Given the description of an element on the screen output the (x, y) to click on. 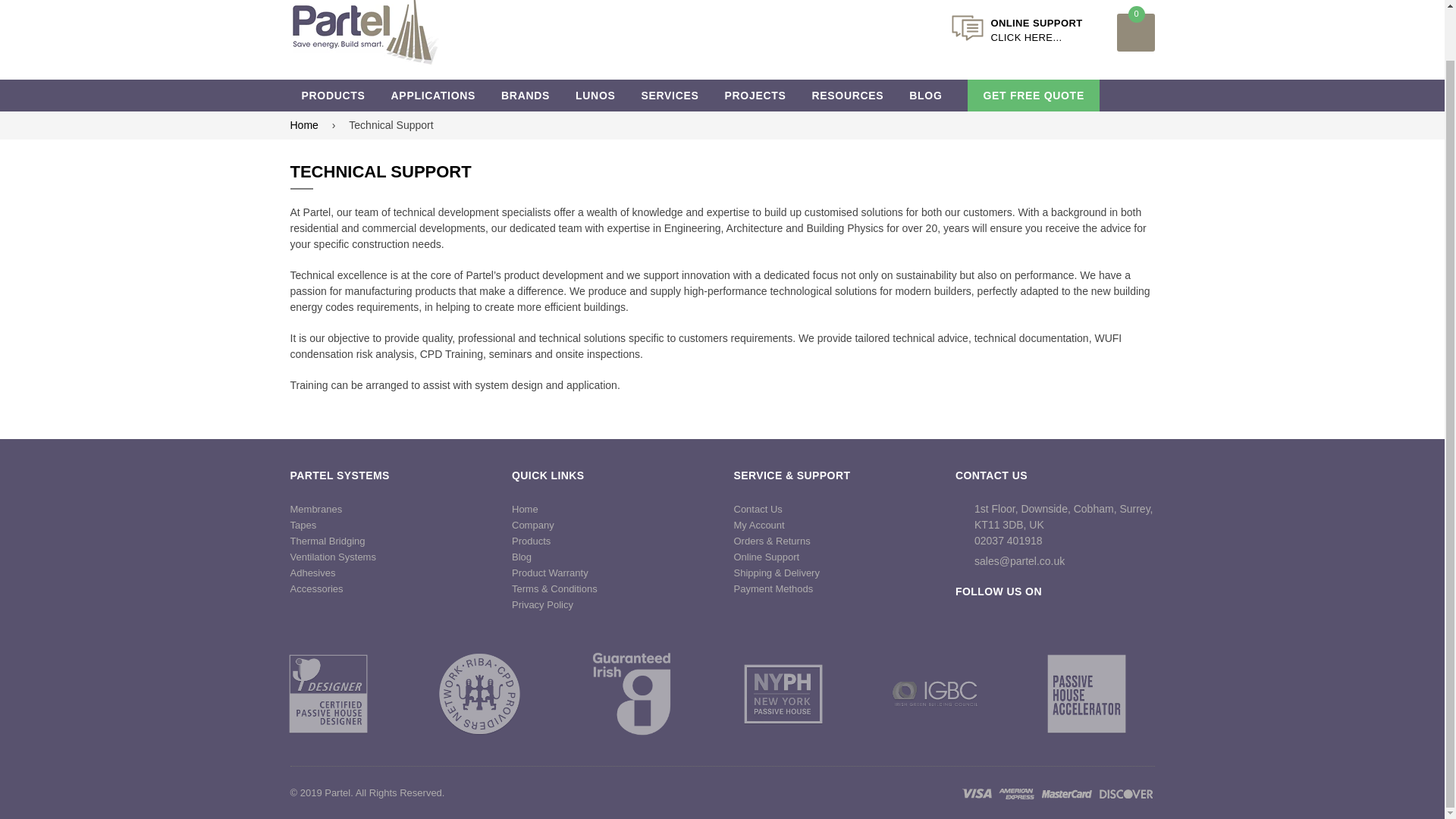
Back to the home page (306, 125)
Cart (1135, 32)
0 (1135, 32)
PRODUCTS (332, 95)
